Given the description of an element on the screen output the (x, y) to click on. 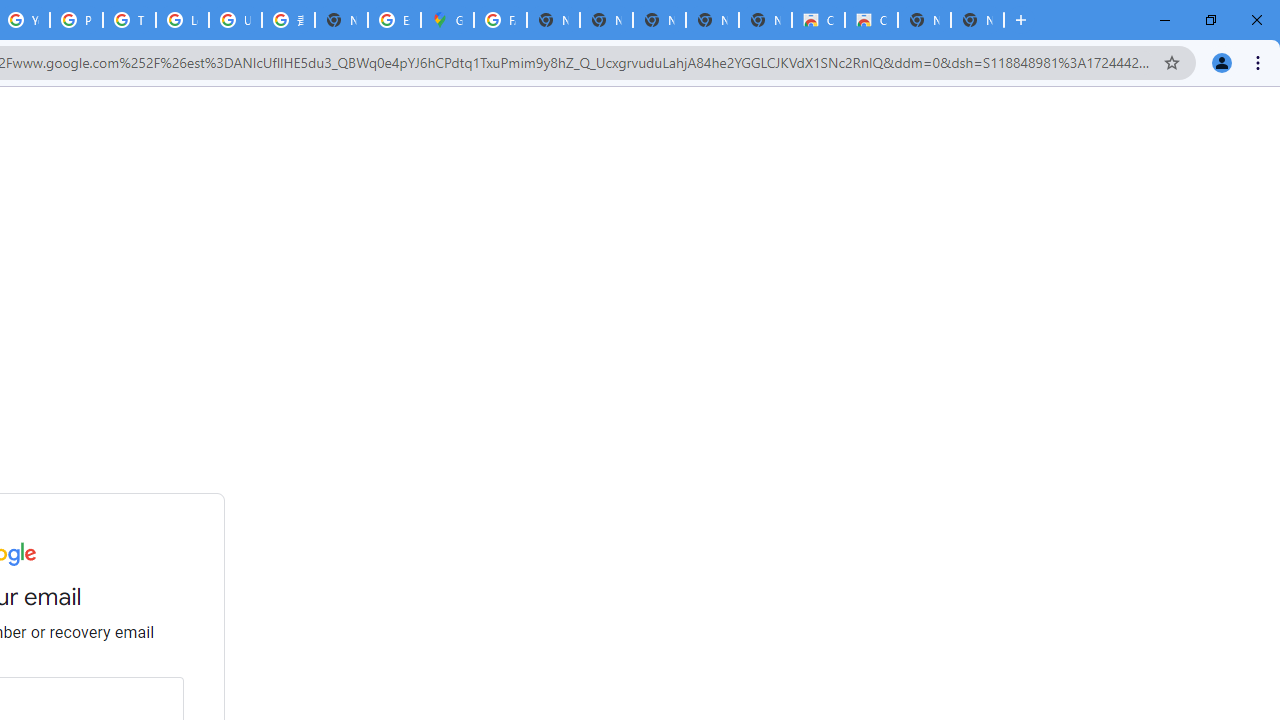
New Tab (977, 20)
Classic Blue - Chrome Web Store (818, 20)
Chrome (1260, 62)
New Tab (341, 20)
Google Maps (447, 20)
Tips & tricks for Chrome - Google Chrome Help (129, 20)
Classic Blue - Chrome Web Store (871, 20)
Explore new street-level details - Google Maps Help (394, 20)
